Given the description of an element on the screen output the (x, y) to click on. 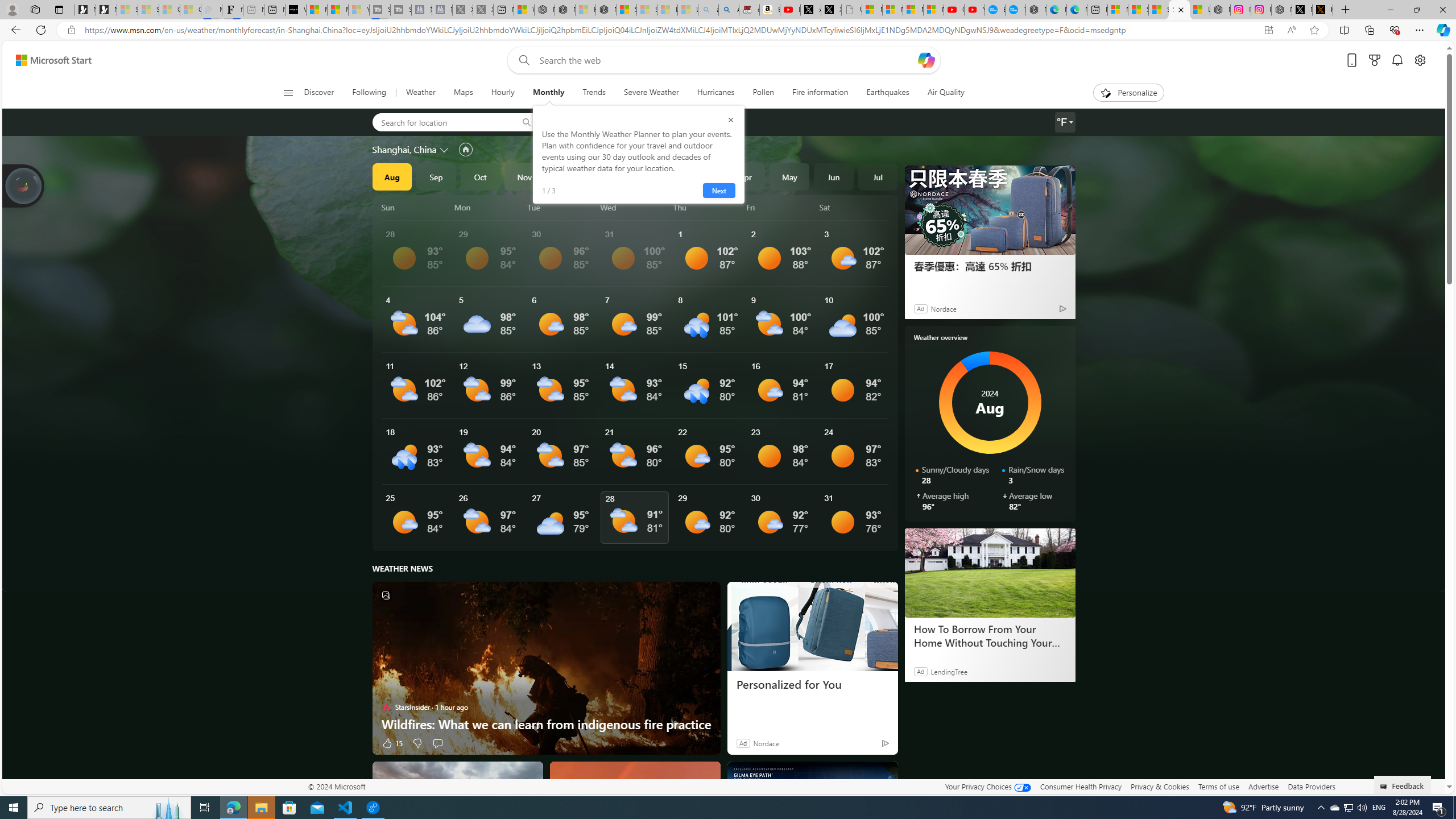
Class: feedback_link_icon-DS-EntryPoint1-1 (1384, 786)
2025Jan (612, 176)
Untitled (851, 9)
